Given the description of an element on the screen output the (x, y) to click on. 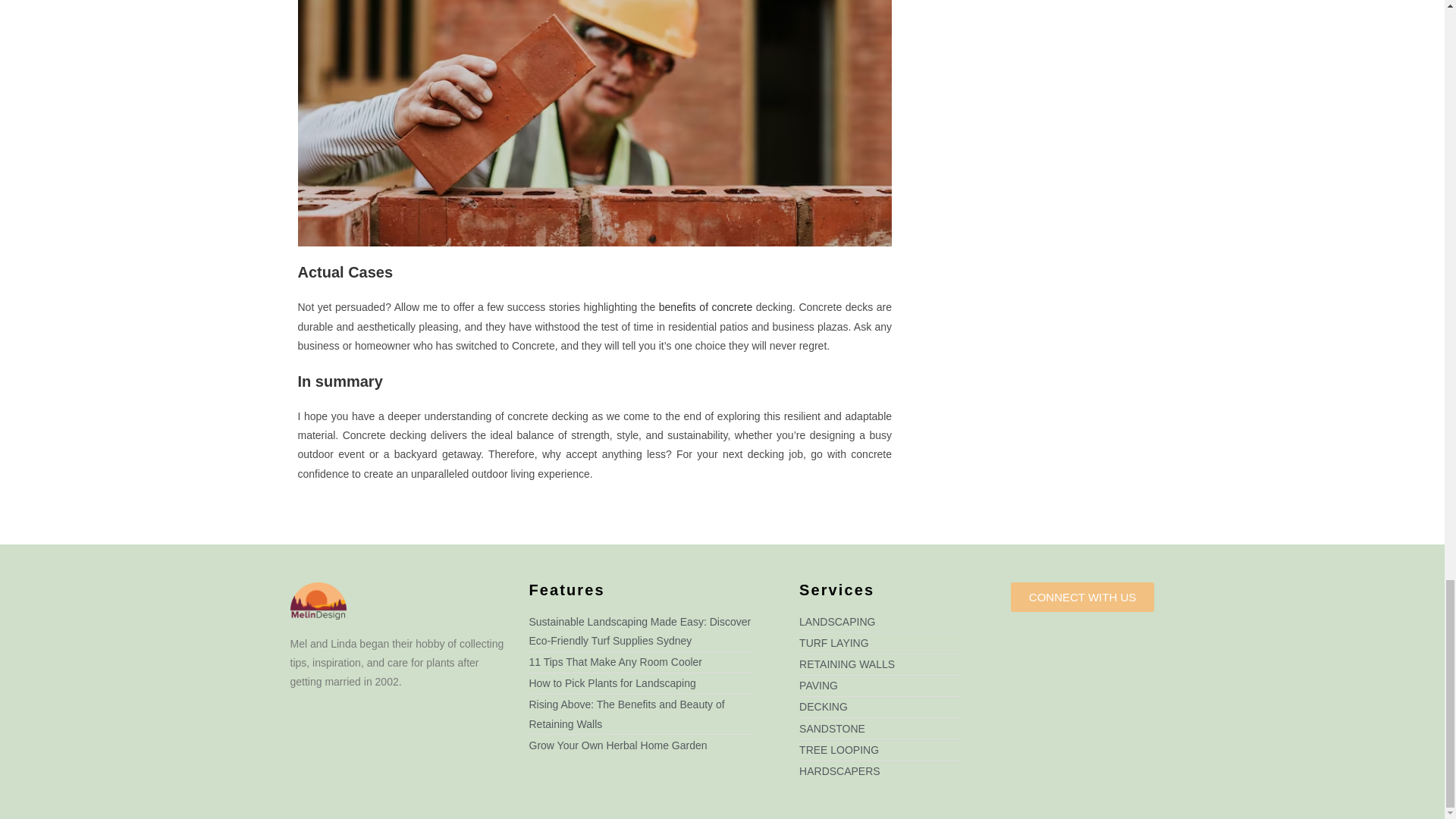
benefits of concrete (705, 306)
How to Pick Plants for Landscaping (641, 683)
Rising Above: The Benefits and Beauty of Retaining Walls (641, 714)
Grow Your Own Herbal Home Garden (641, 745)
11 Tips That Make Any Room Cooler (641, 661)
